Given the description of an element on the screen output the (x, y) to click on. 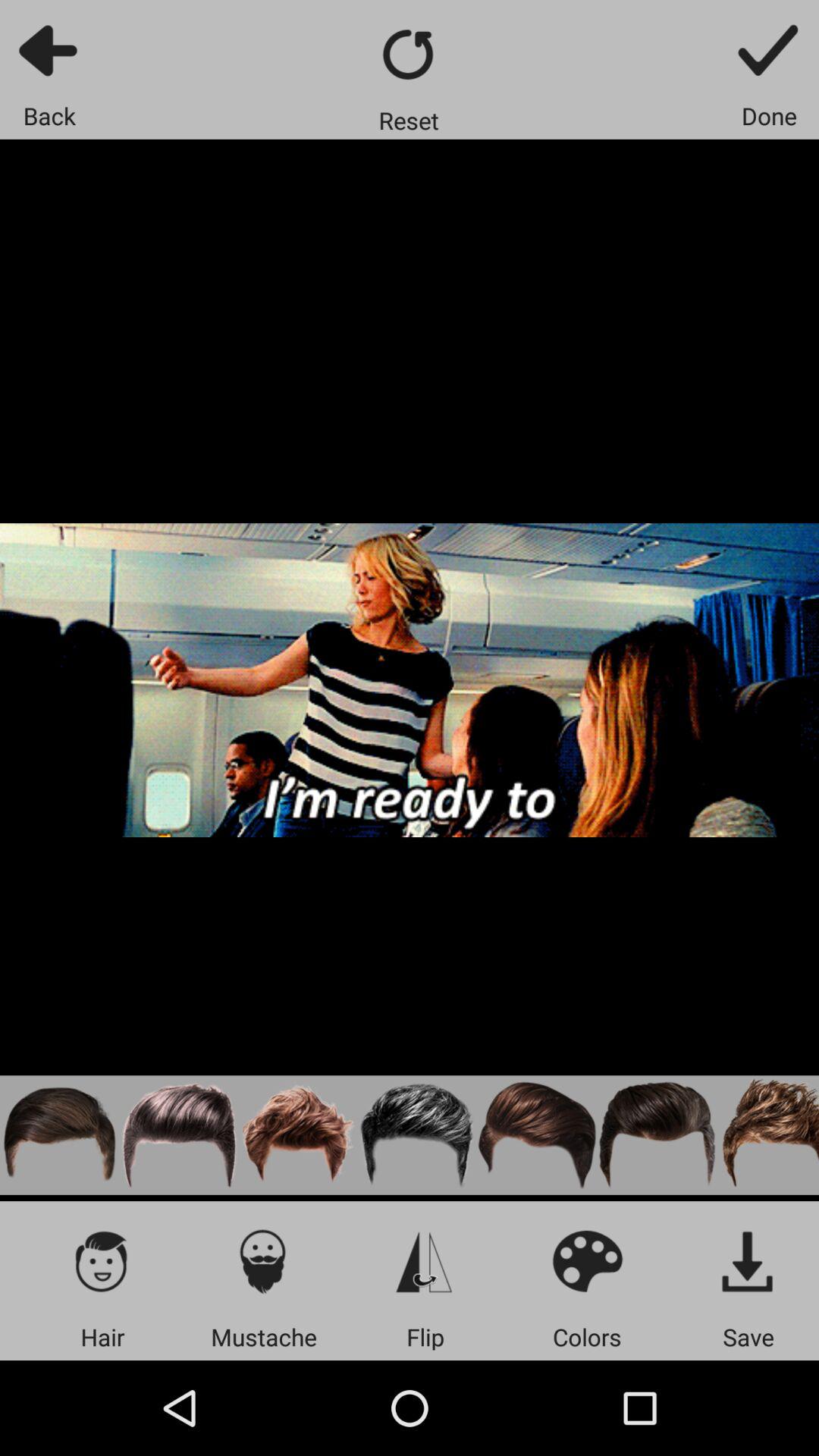
go back (49, 49)
